Given the description of an element on the screen output the (x, y) to click on. 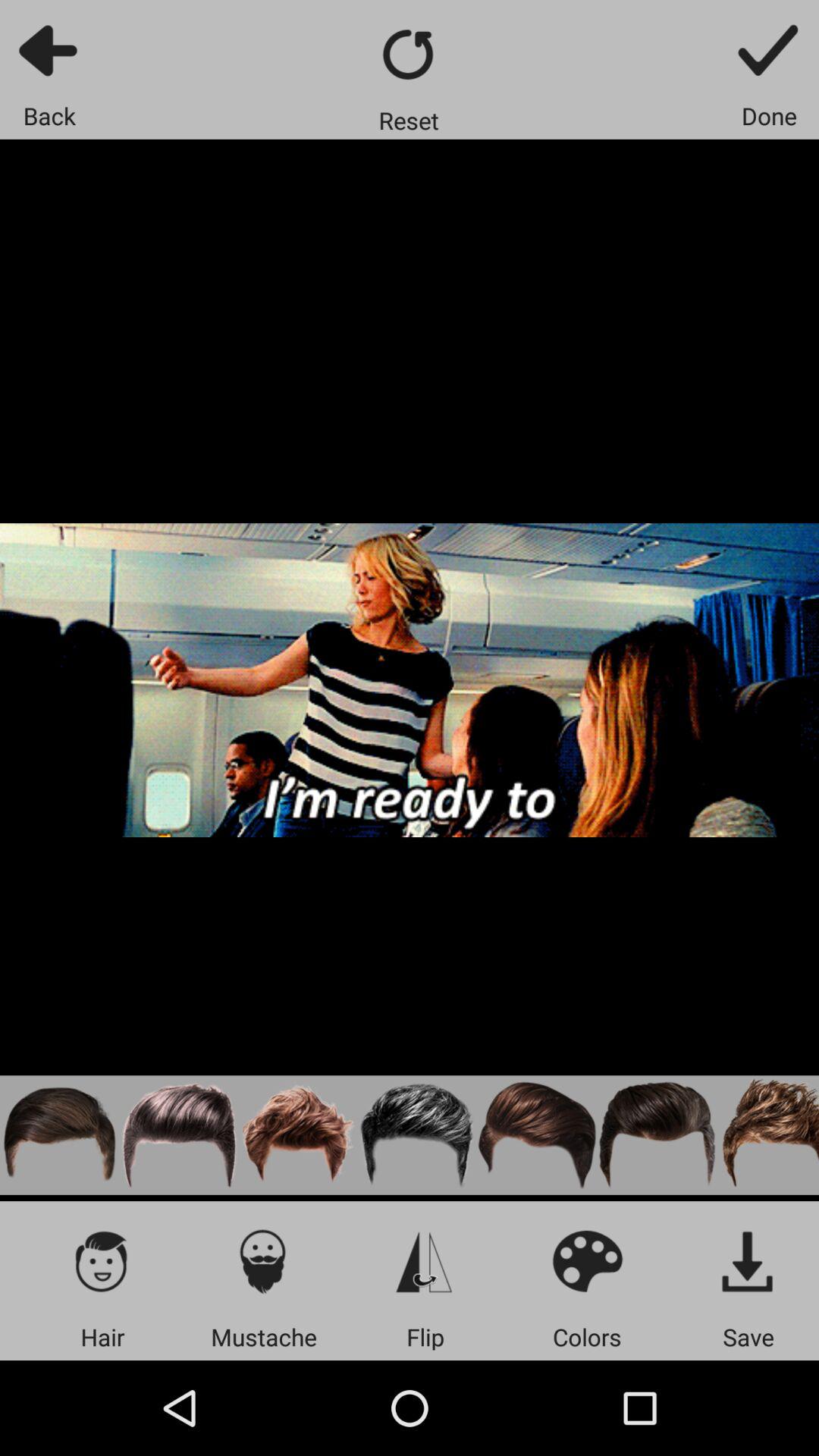
go back (49, 49)
